Given the description of an element on the screen output the (x, y) to click on. 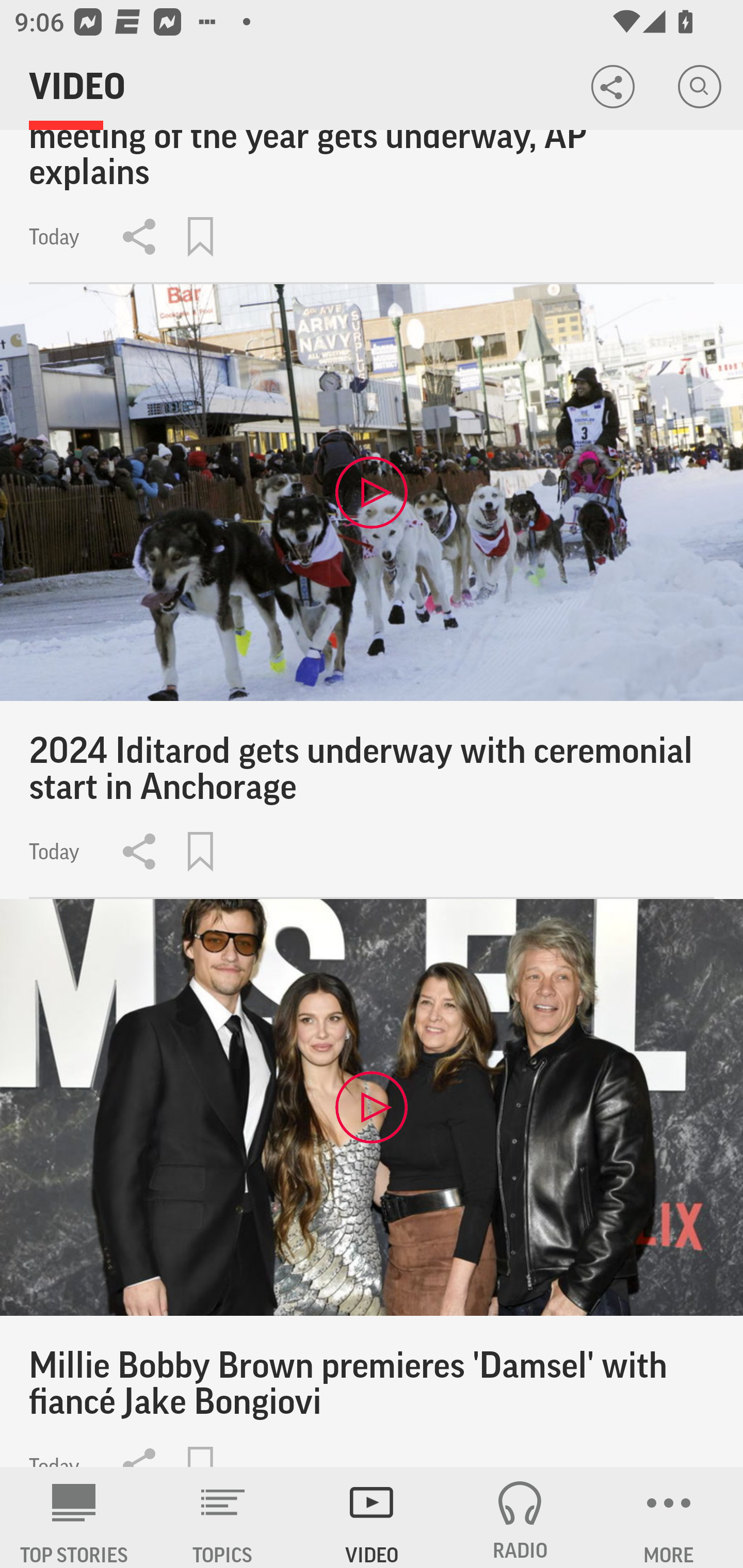
AP News TOP STORIES (74, 1517)
TOPICS (222, 1517)
VIDEO (371, 1517)
RADIO (519, 1517)
MORE (668, 1517)
